Given the description of an element on the screen output the (x, y) to click on. 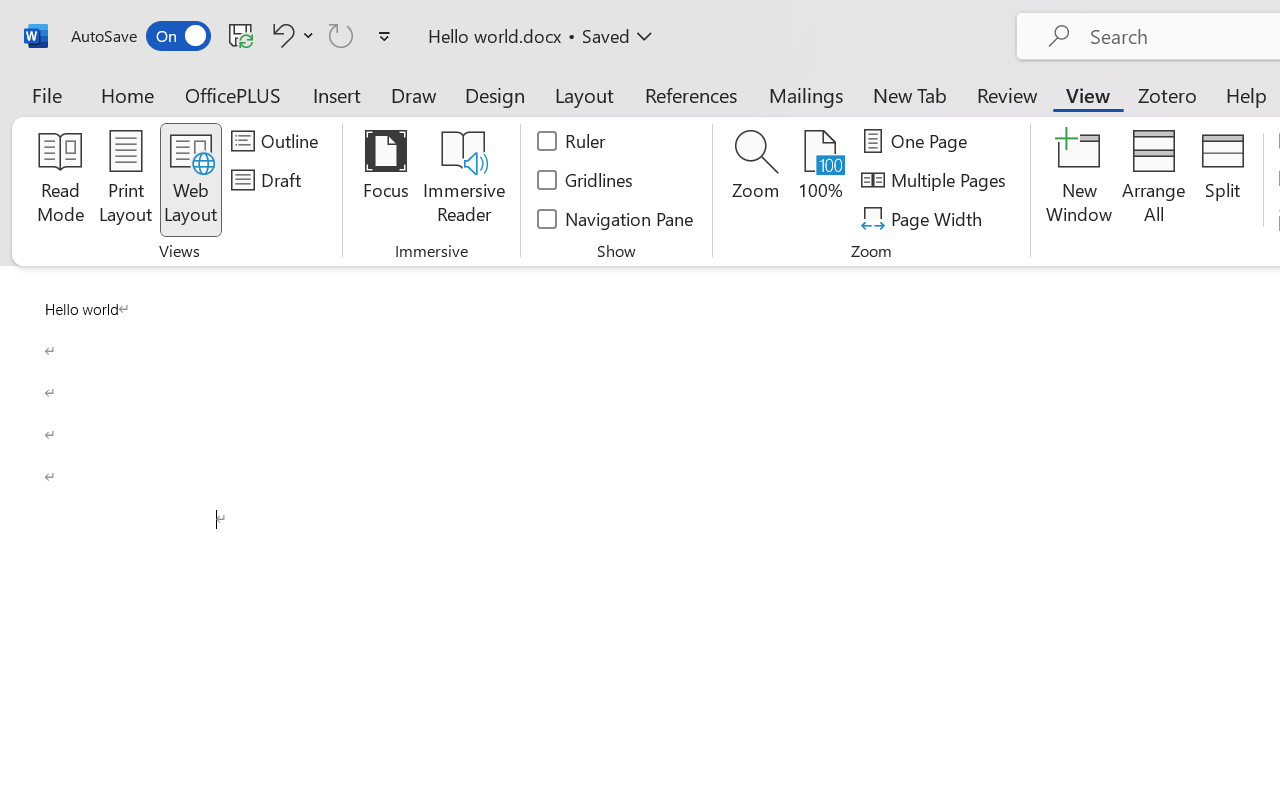
Immersive Reader (464, 179)
Undo Paragraph Formatting (280, 35)
Zoom... (755, 179)
AutoSave (140, 35)
Read Mode (60, 179)
New Tab (909, 94)
Zotero (1166, 94)
OfficePLUS (233, 94)
One Page (917, 141)
Home (127, 94)
Mailings (806, 94)
Draw (413, 94)
